Given the description of an element on the screen output the (x, y) to click on. 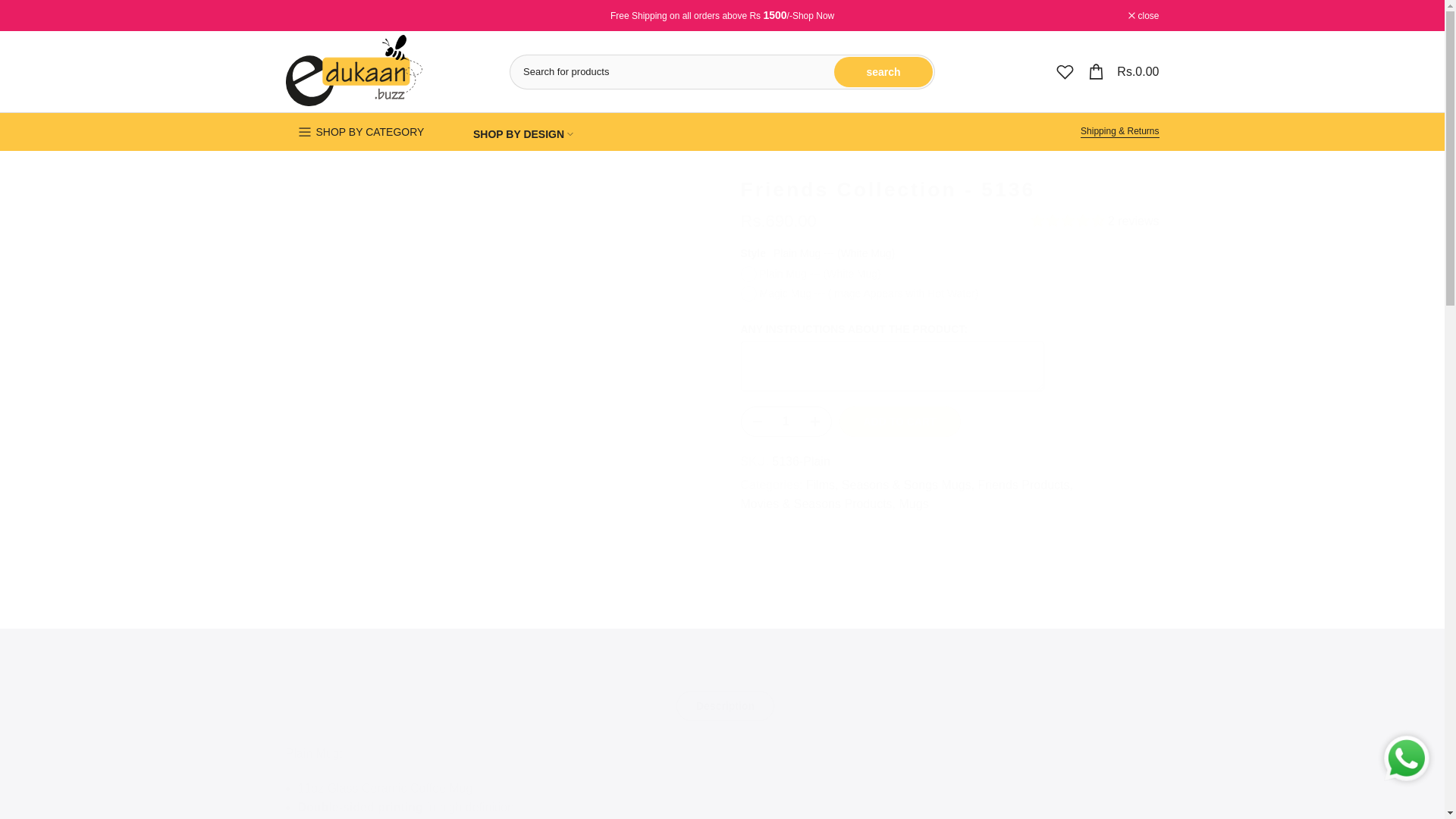
2 reviews (1094, 221)
Shop Now (813, 15)
SHOP BY DESIGN (523, 134)
Rs.0.00 (1122, 71)
1 (786, 421)
Friends Products (1025, 485)
All collections (813, 15)
ADD TO CART (898, 421)
Skip to content (10, 7)
Mugs (913, 504)
Description (725, 706)
close (1143, 14)
search (883, 71)
